Given the description of an element on the screen output the (x, y) to click on. 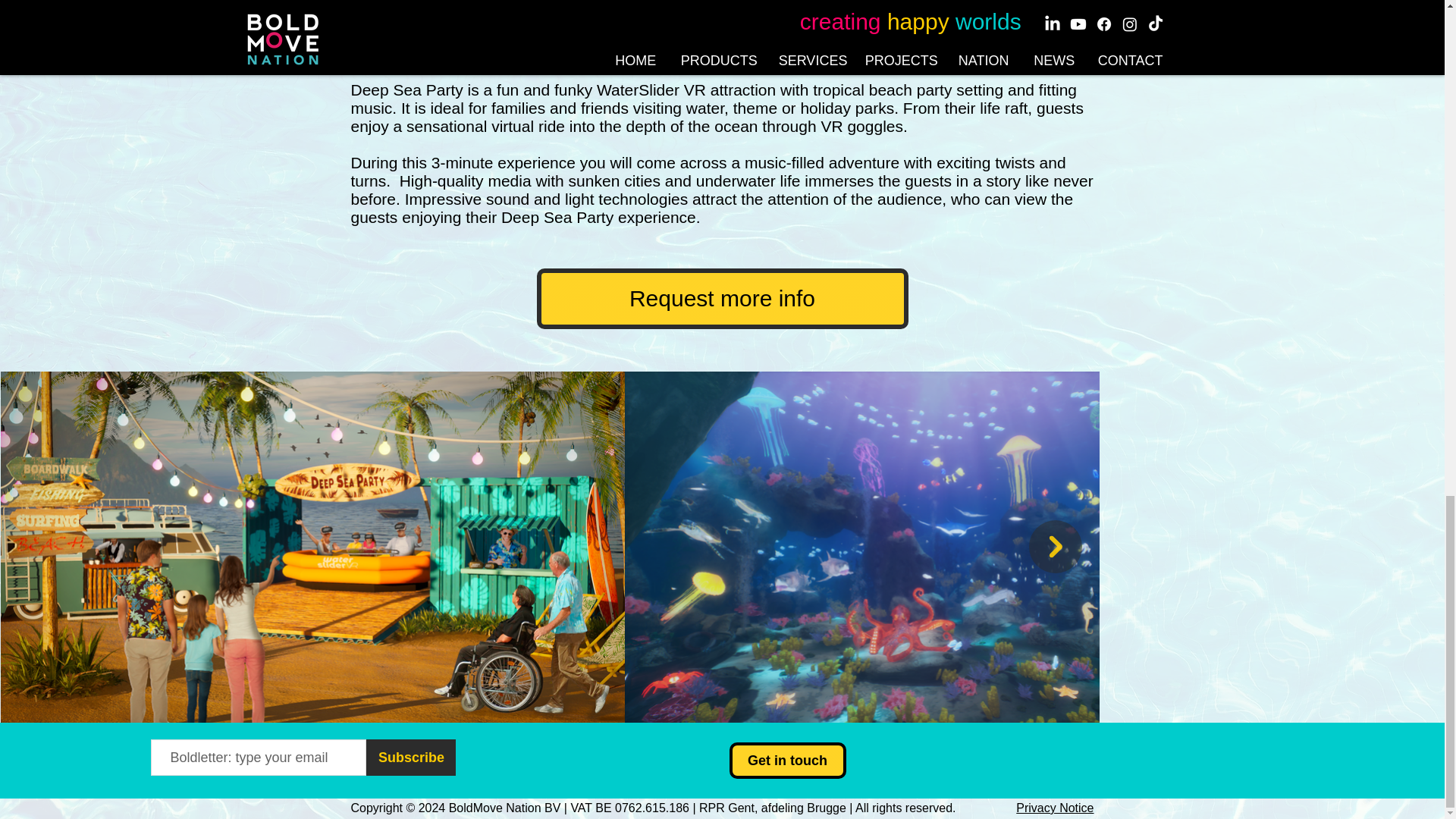
Subscribe (410, 757)
Privacy Notice (1054, 807)
Request more info (722, 298)
Get in touch (787, 760)
